Given the description of an element on the screen output the (x, y) to click on. 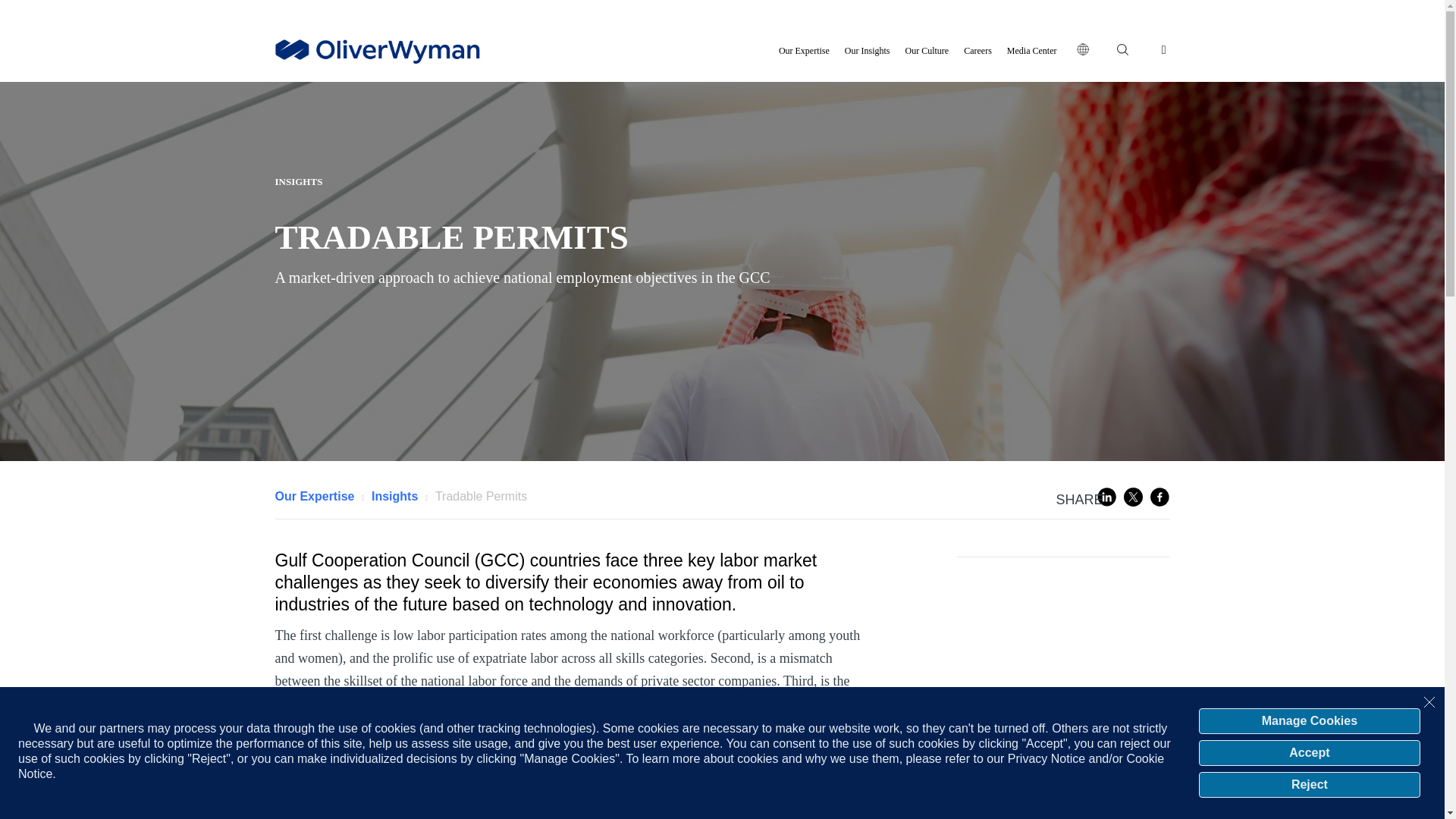
Reject (1309, 784)
Manage Cookies (1309, 720)
Our Expertise (803, 50)
Accept (1309, 752)
